Given the description of an element on the screen output the (x, y) to click on. 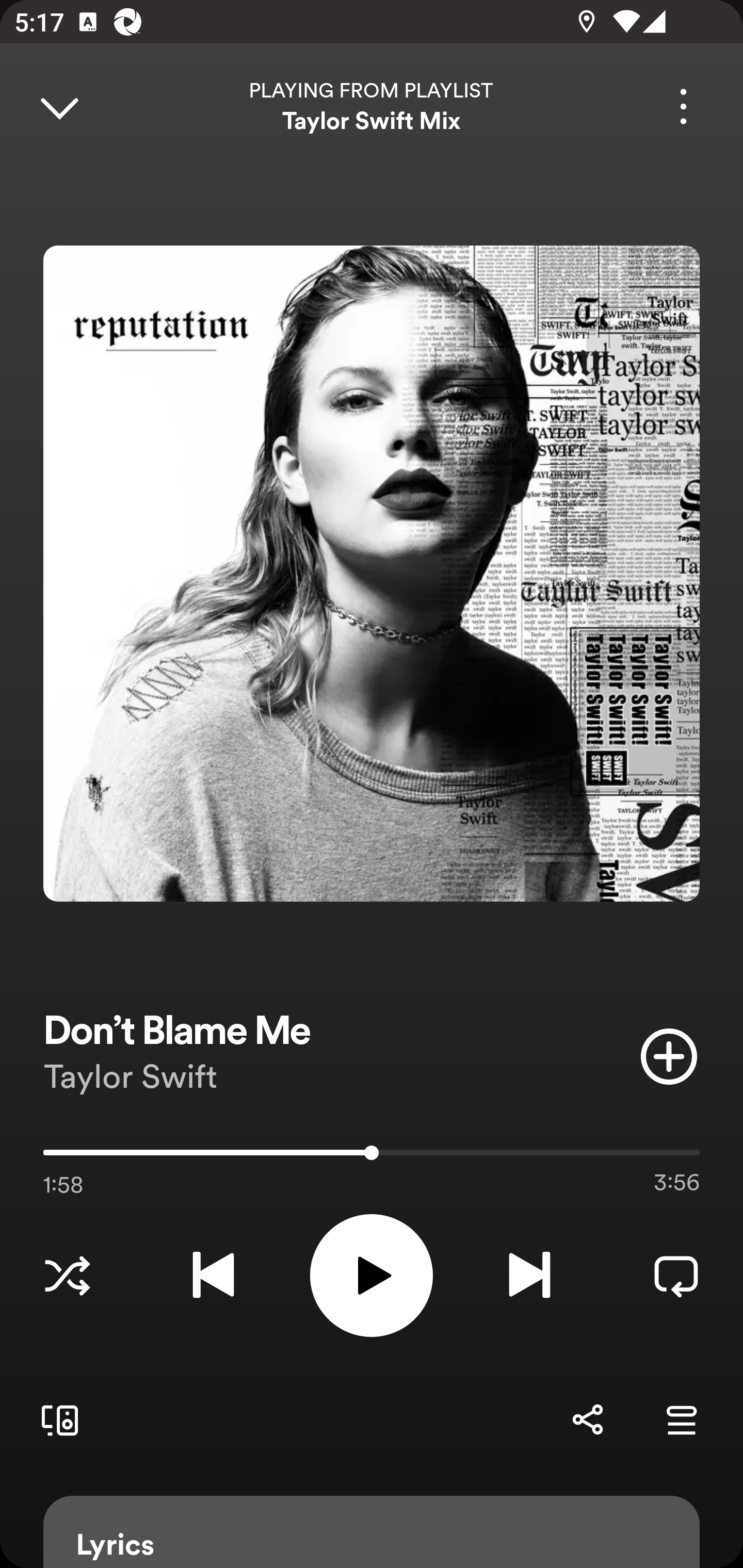
Close (59, 106)
More options for song Don’t Blame Me (683, 106)
PLAYING FROM PLAYLIST Taylor Swift Mix (371, 106)
Add item (669, 1056)
1:58 3:56 118000.0 Use volume keys to adjust (371, 1157)
Play (371, 1275)
Previous (212, 1275)
Next (529, 1275)
Choose a Listening Mode (66, 1275)
Repeat (676, 1275)
Share (587, 1419)
Go to Queue (681, 1419)
Connect to a device. Opens the devices menu (55, 1419)
Lyrics (371, 1531)
